Given the description of an element on the screen output the (x, y) to click on. 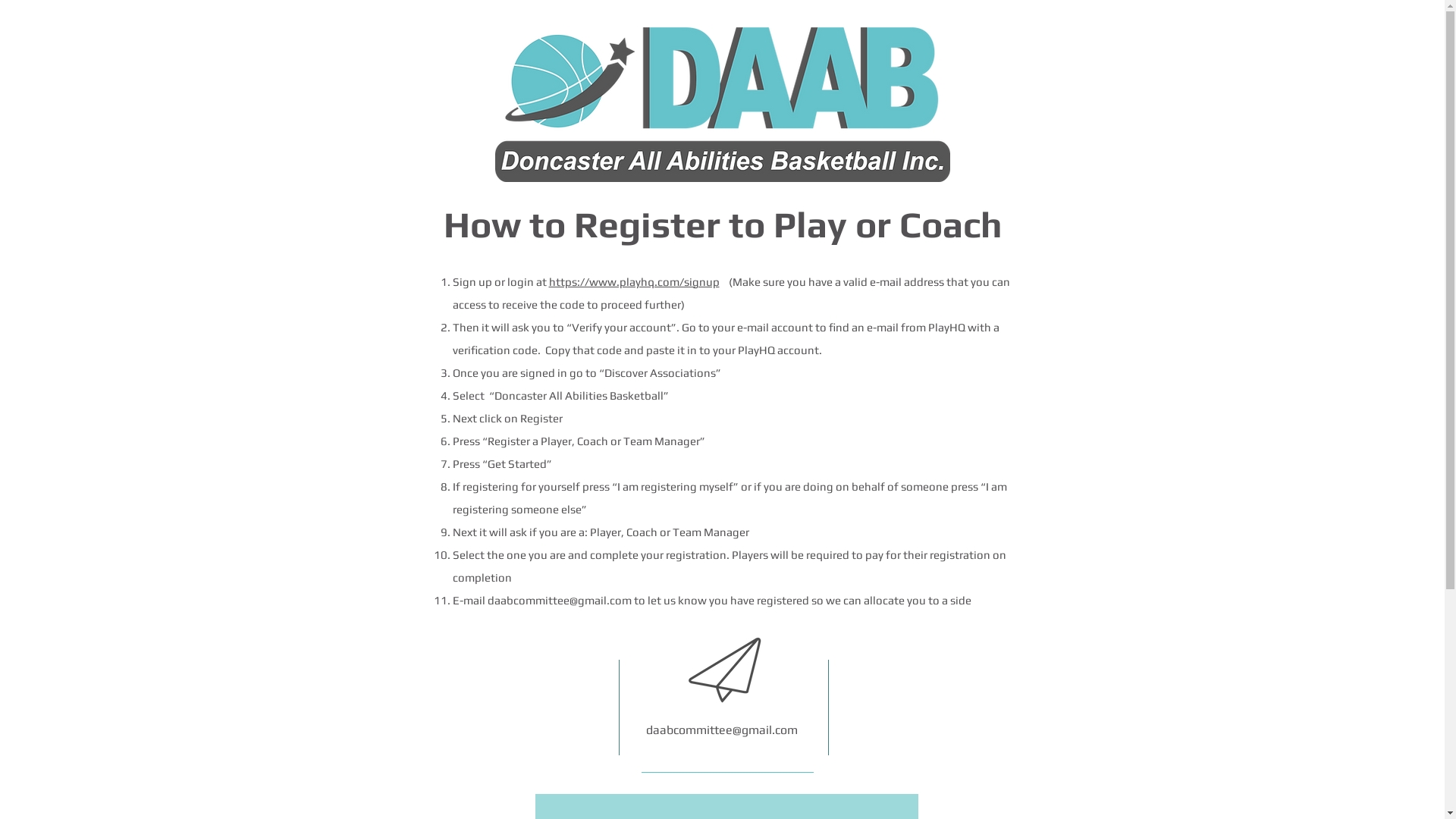
daabcommittee@gmail.com Element type: text (721, 729)
https://www.playhq.com/signup Element type: text (634, 281)
daabcommittee@gmail.com Element type: text (558, 599)
